Given the description of an element on the screen output the (x, y) to click on. 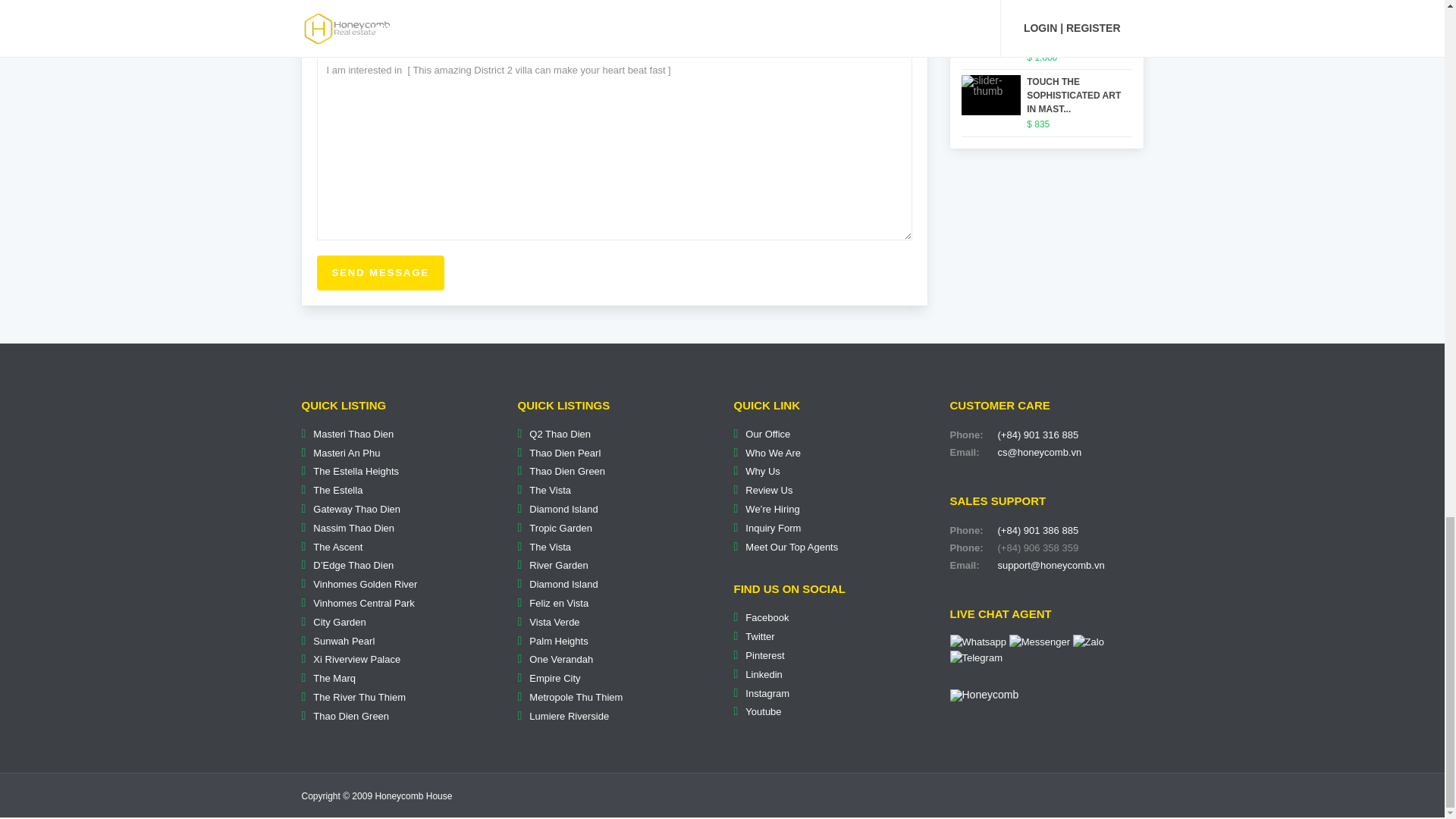
Send Message (381, 272)
Send Message (381, 272)
Zalo (1088, 642)
WhatsApp (977, 642)
Messenger (1039, 642)
Telegram (975, 658)
Messenger (1039, 641)
WhatsApp (977, 641)
Zalo (1088, 641)
Telegram (975, 657)
